Given the description of an element on the screen output the (x, y) to click on. 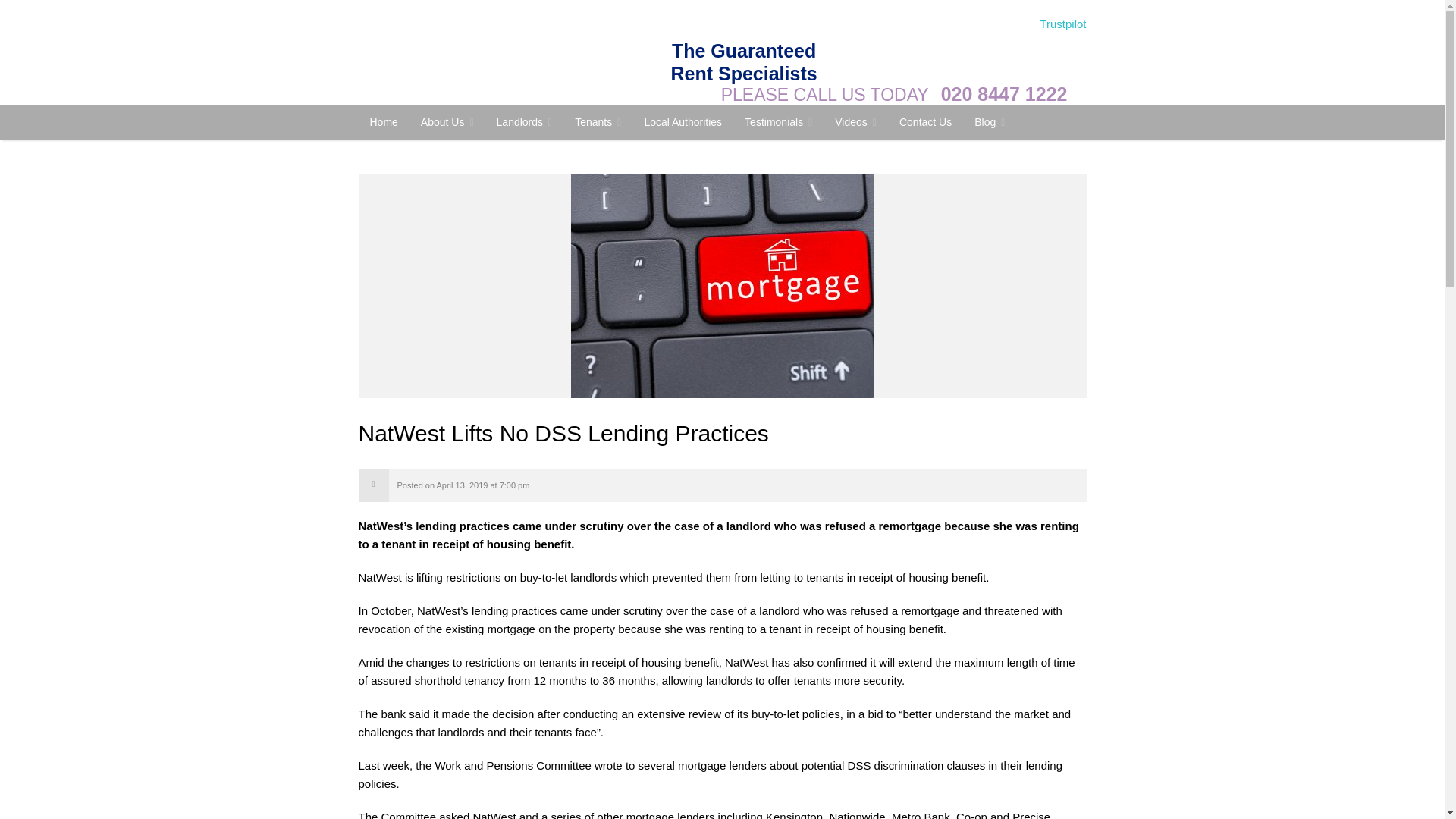
Testimonials (778, 122)
Central Housing Group (383, 121)
Tenants (597, 122)
About Us (446, 122)
Home (383, 121)
Landlords (524, 122)
020 8447 1222 (1003, 93)
Trustpilot (1062, 23)
Local Authorities (682, 121)
Landlords (524, 122)
